Given the description of an element on the screen output the (x, y) to click on. 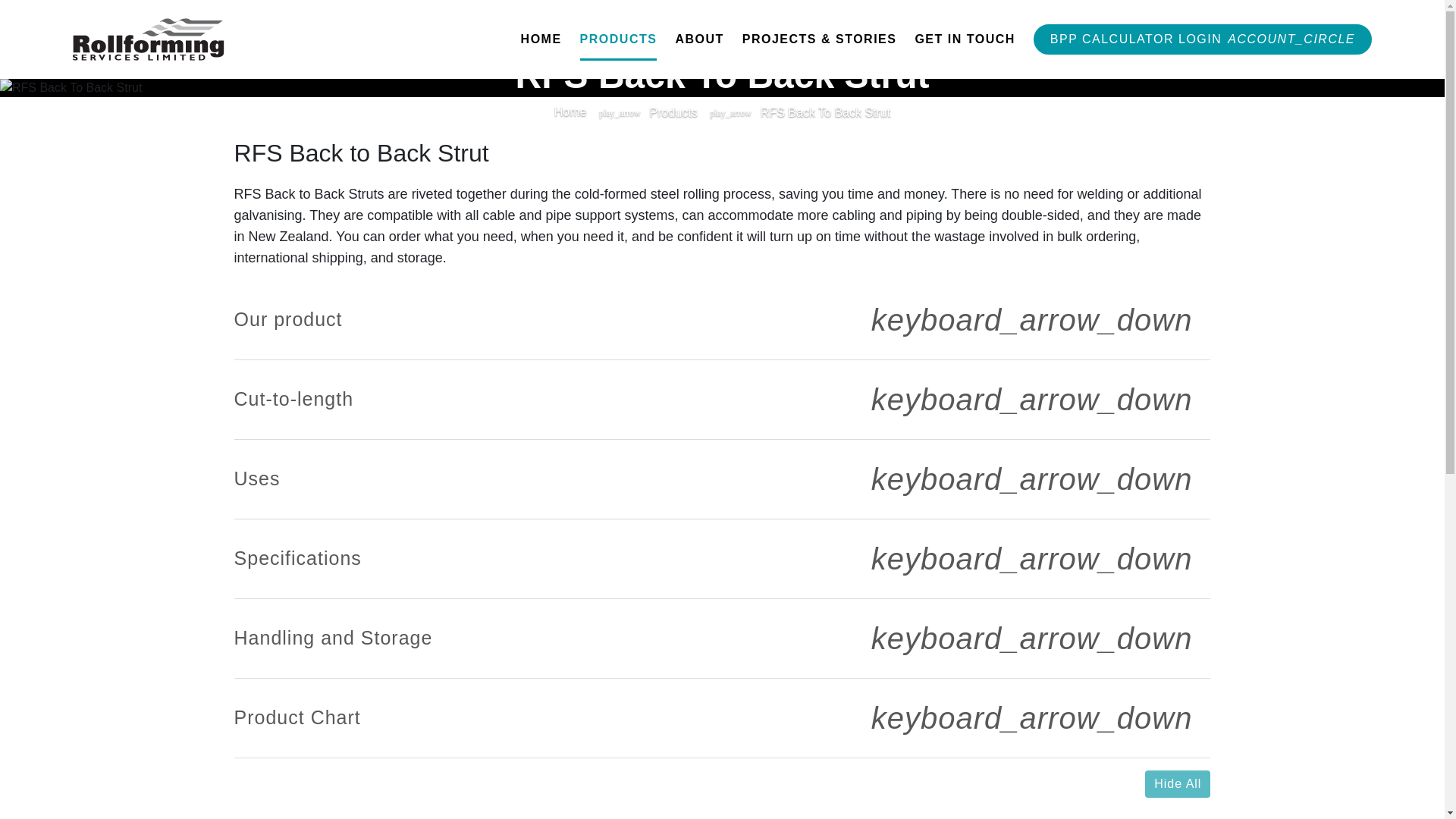
HOME (541, 39)
BPP Calculator Login (1202, 39)
GET IN TOUCH (964, 39)
RFS Back To Back Strut (824, 112)
ABOUT (699, 39)
Products (673, 112)
Home (570, 112)
PRODUCTS (618, 39)
Hide All (1176, 783)
